Given the description of an element on the screen output the (x, y) to click on. 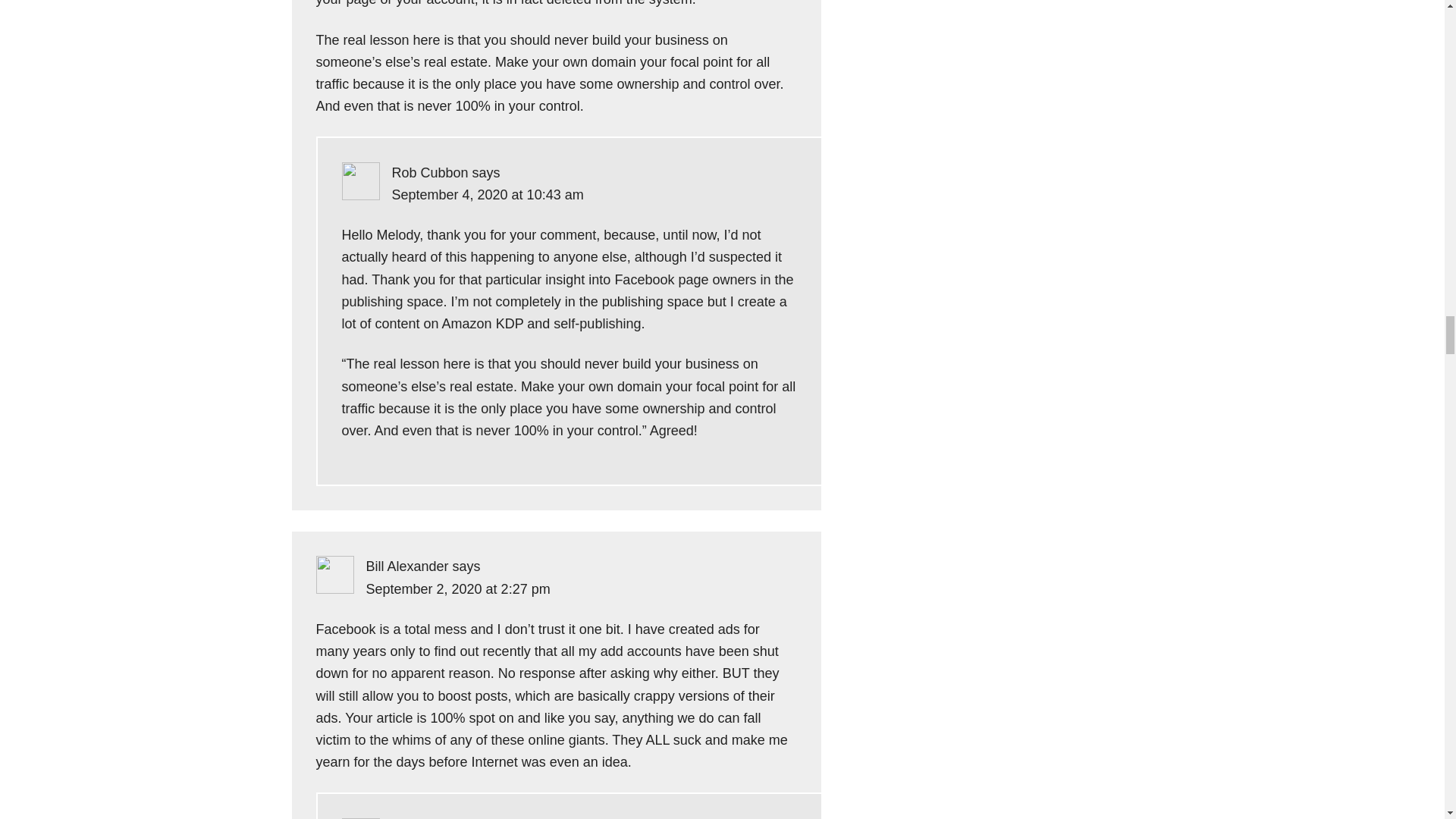
September 4, 2020 at 10:43 am (487, 194)
September 2, 2020 at 2:27 pm (457, 589)
Rob Cubbon (429, 172)
